Given the description of an element on the screen output the (x, y) to click on. 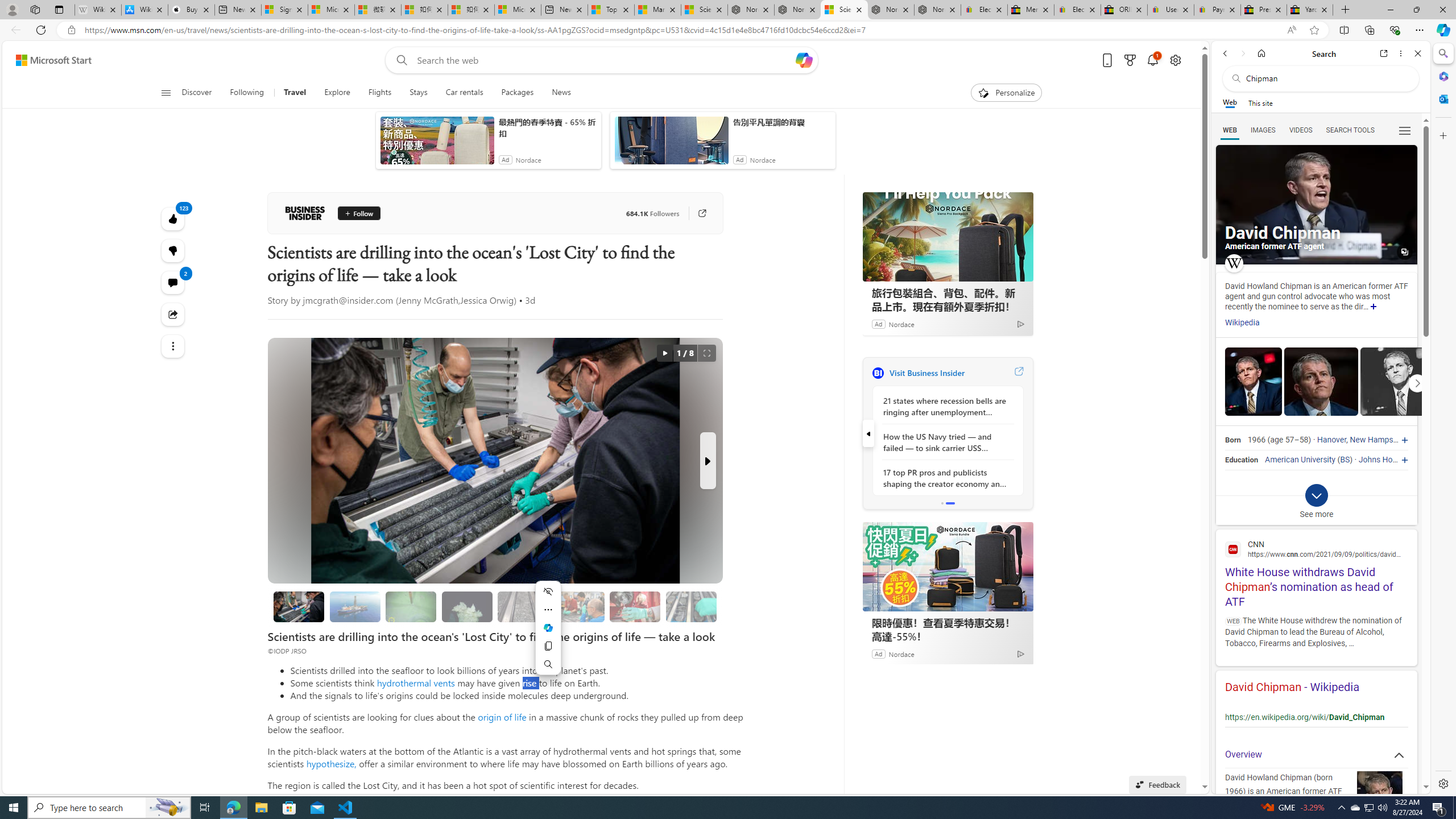
Global web icon (1232, 549)
Researchers are still studying the samples (691, 606)
Skip to footer (46, 59)
All images (1404, 252)
Microsoft rewards (1129, 60)
American University (1300, 460)
